Given the description of an element on the screen output the (x, y) to click on. 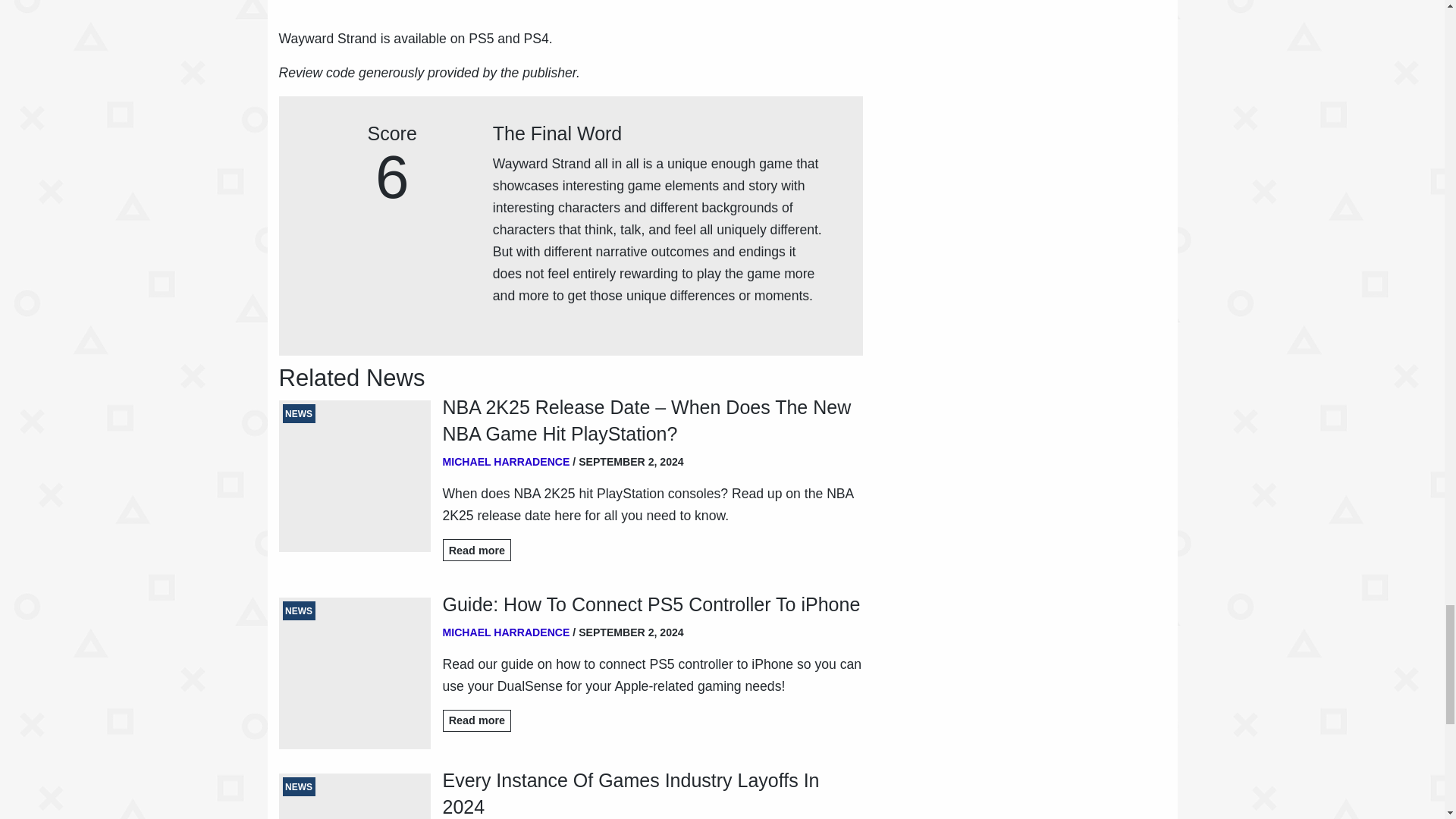
Read more (477, 549)
Read more (477, 721)
NEWS (354, 796)
Guide: How To Connect PS5 Controller To iPhone (652, 604)
NEWS (354, 476)
MICHAEL HARRADENCE (506, 461)
MICHAEL HARRADENCE (506, 632)
Every Instance Of Games Industry Layoffs In 2024 (652, 793)
NEWS (354, 673)
